Given the description of an element on the screen output the (x, y) to click on. 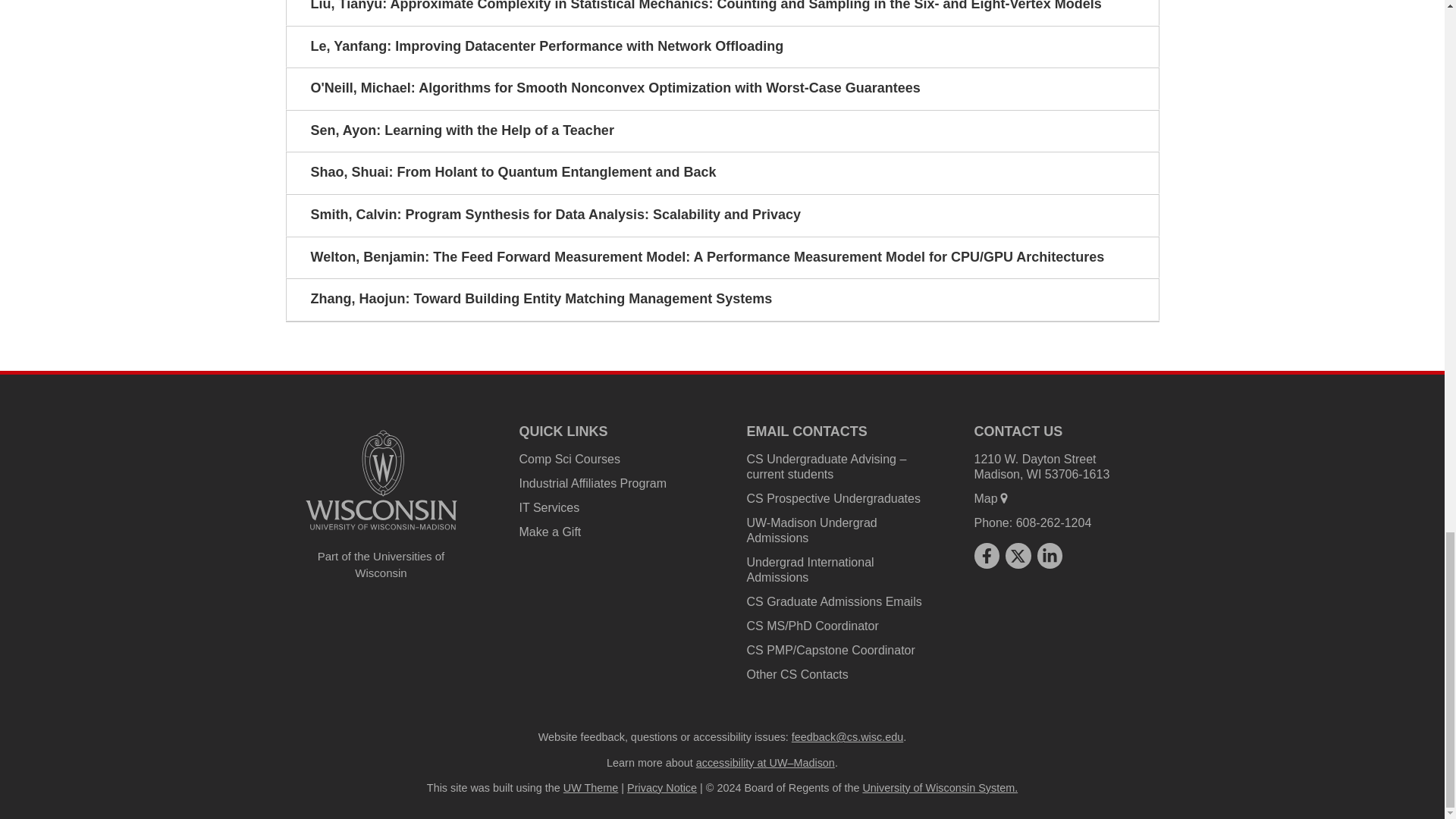
linkedin (1049, 555)
University logo that links to main university website (380, 480)
facebook (986, 555)
map marker (1003, 498)
x twitter (1018, 555)
